Given the description of an element on the screen output the (x, y) to click on. 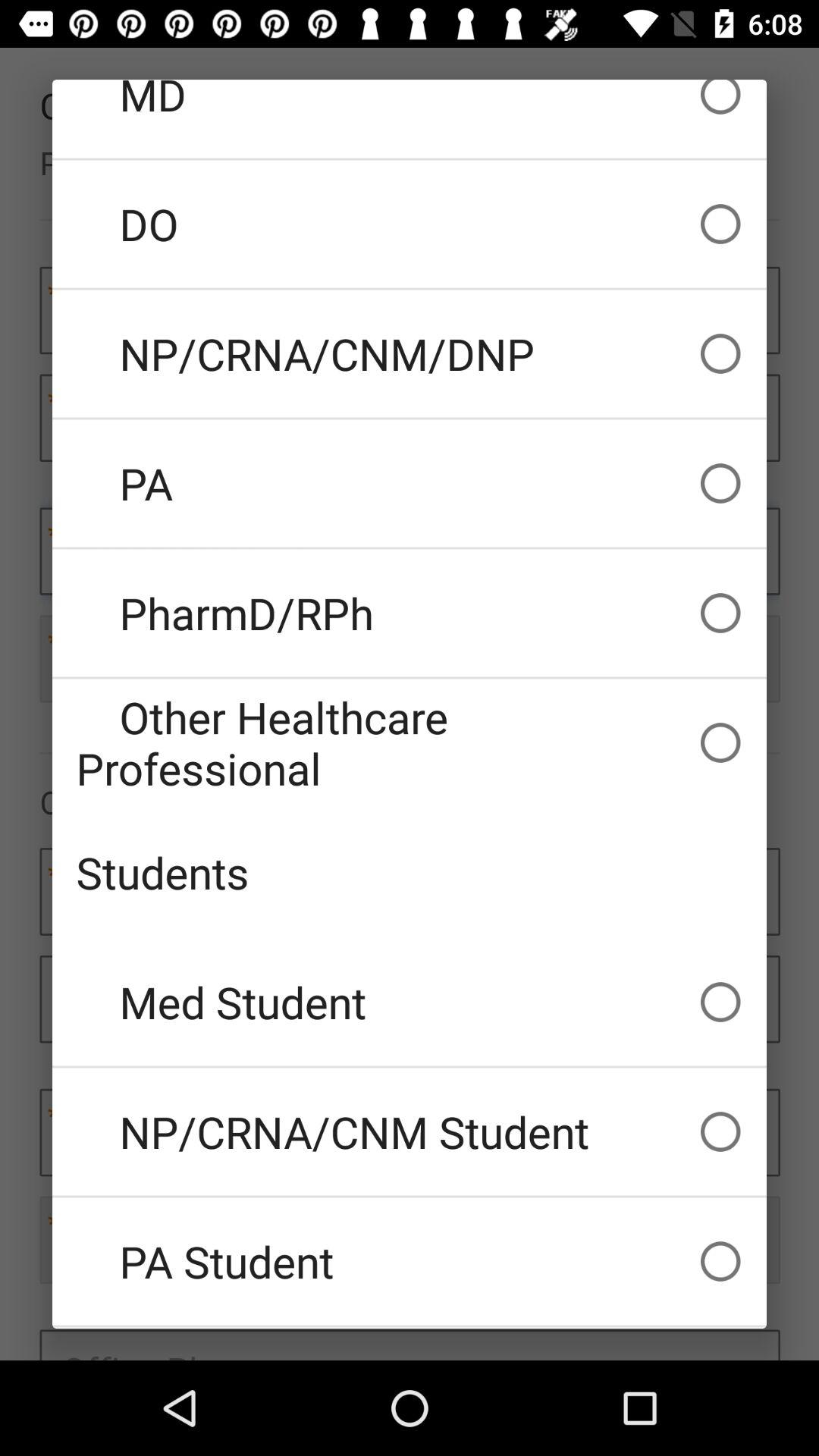
jump until med student icon (409, 1001)
